Given the description of an element on the screen output the (x, y) to click on. 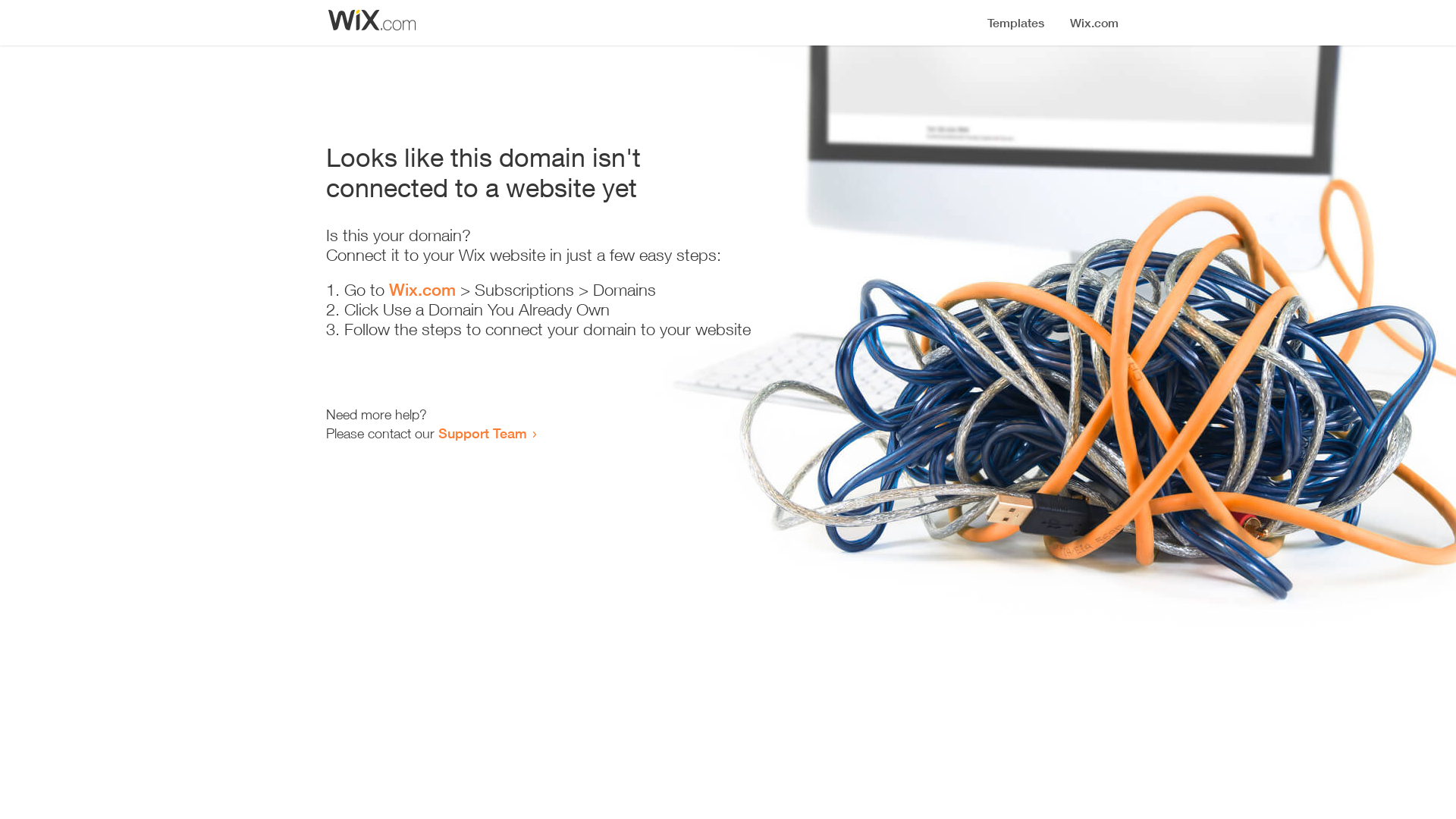
Support Team Element type: text (482, 432)
Wix.com Element type: text (422, 289)
